Given the description of an element on the screen output the (x, y) to click on. 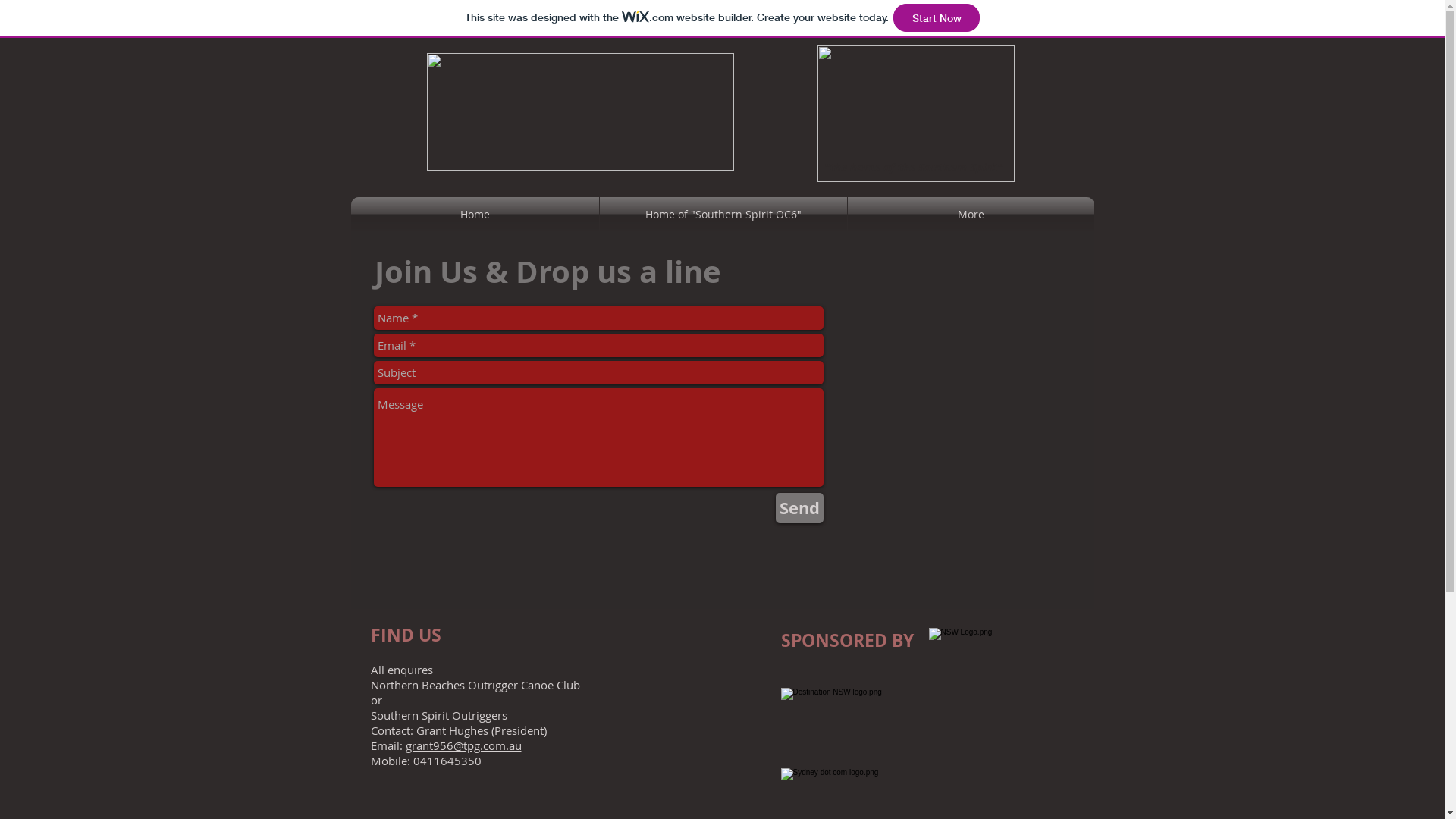
Send Element type: text (798, 507)
1052239_678059822209499_265449306_o.jpg Element type: hover (915, 113)
Home of "Southern Spirit OC6" Element type: text (722, 214)
grant956@tpg.com.au Element type: text (462, 745)
Home Element type: text (474, 214)
